Given the description of an element on the screen output the (x, y) to click on. 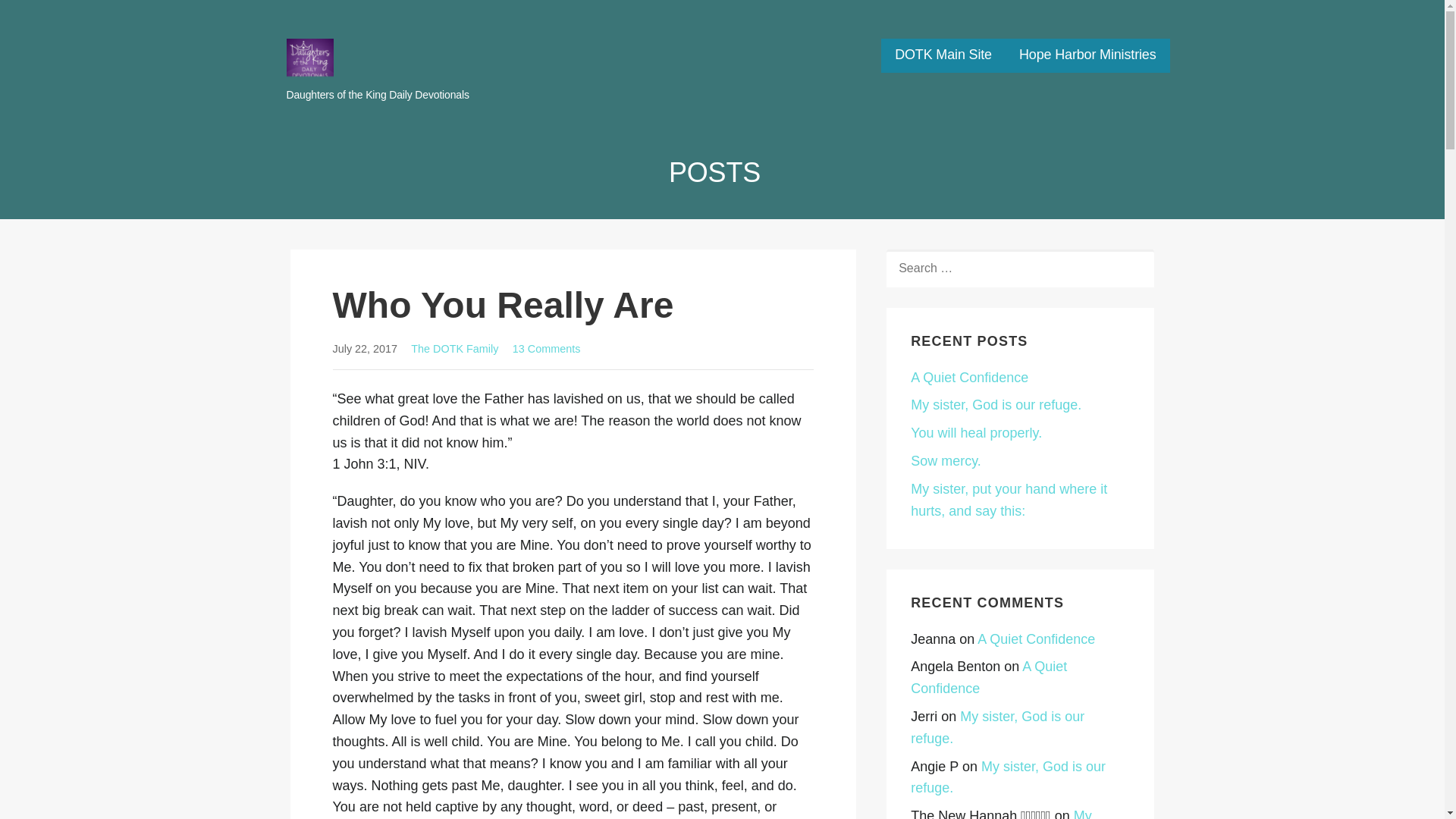
Posts by The DOTK Family (453, 348)
Hope Harbor Ministries (1087, 55)
13 Comments (546, 348)
The DOTK Family (453, 348)
DOTK Main Site (943, 55)
